Given the description of an element on the screen output the (x, y) to click on. 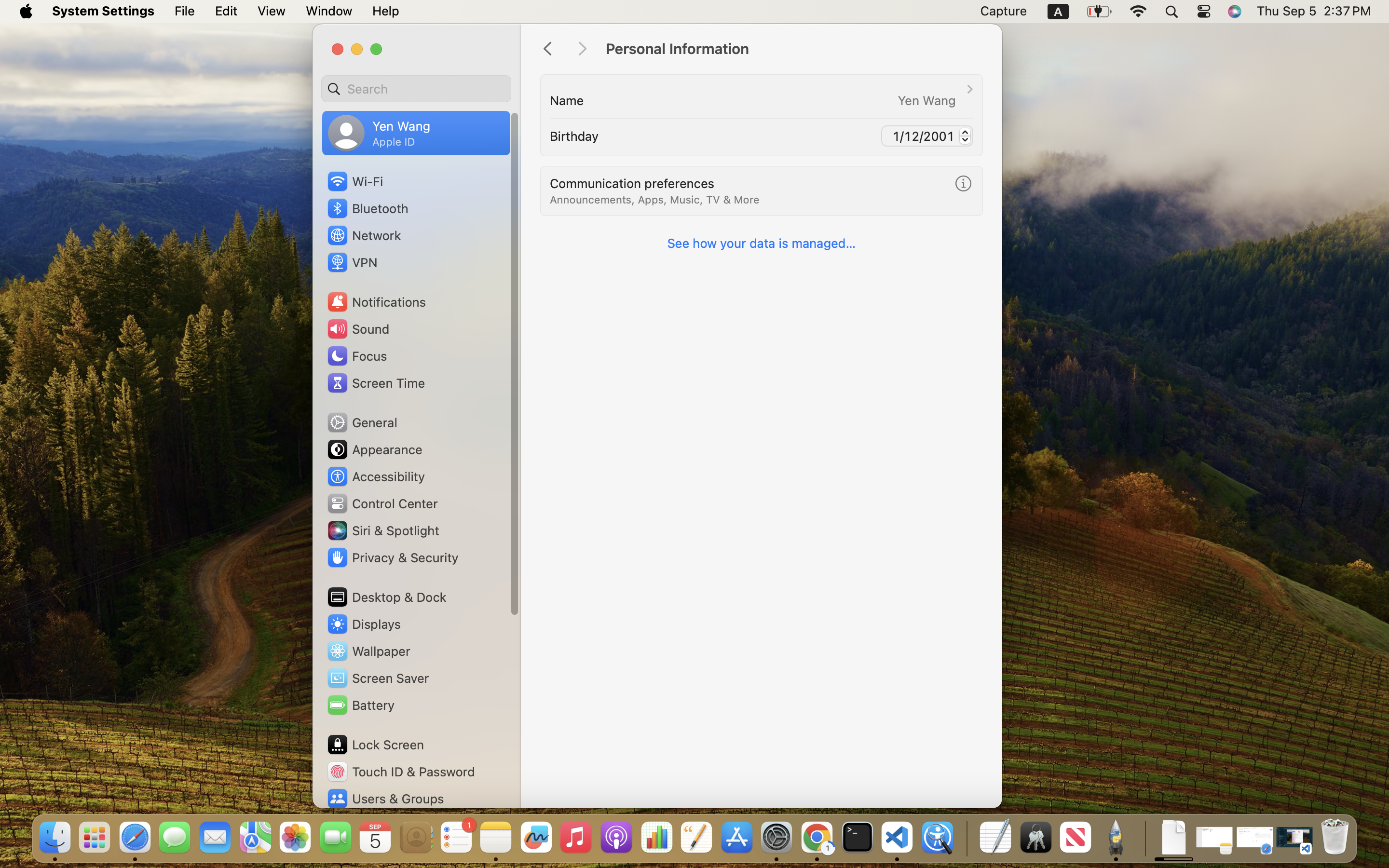
Users & Groups Element type: AXStaticText (384, 798)
Wallpaper Element type: AXStaticText (367, 650)
Lock Screen Element type: AXStaticText (375, 744)
Announcements, Apps, Music, TV & More Element type: AXStaticText (654, 199)
Appearance Element type: AXStaticText (374, 449)
